Given the description of an element on the screen output the (x, y) to click on. 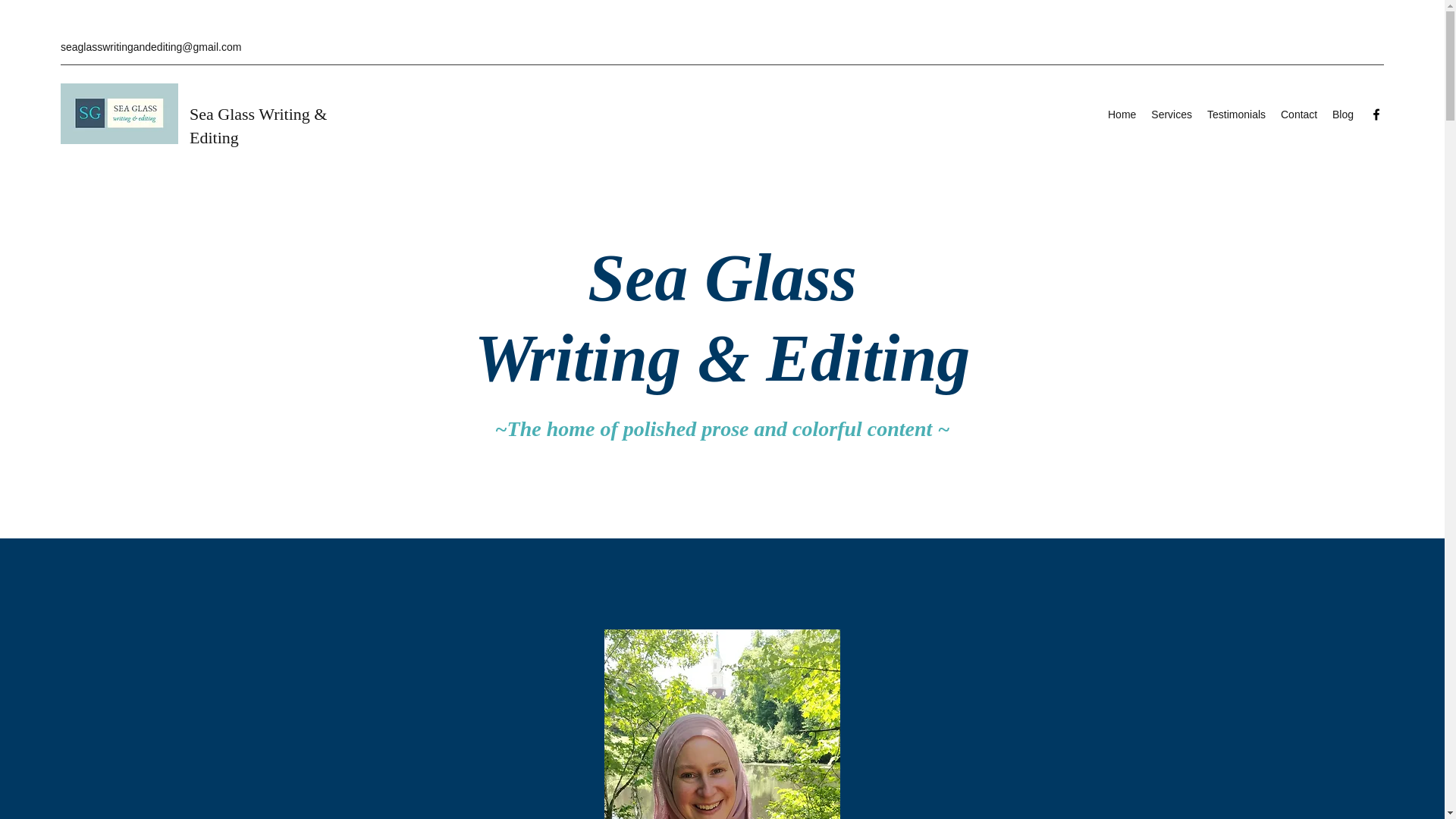
Blog (1342, 114)
Contact (1298, 114)
Services (1170, 114)
Home (1121, 114)
Testimonials (1235, 114)
